Given the description of an element on the screen output the (x, y) to click on. 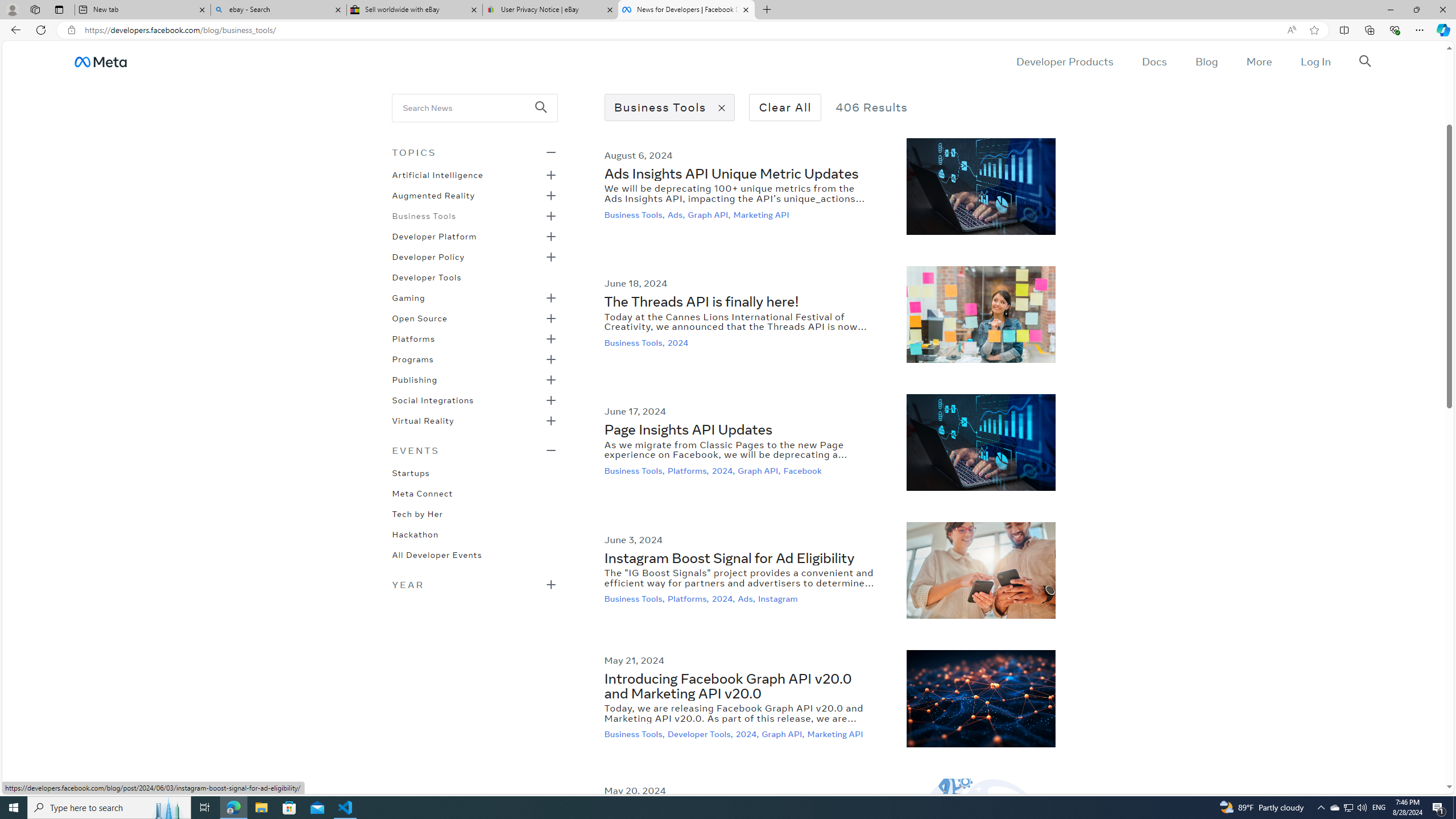
Open Source (418, 317)
Tech by Her (416, 512)
Close (1442, 9)
Graph API, (784, 733)
Instagram (778, 598)
Social Integrations (432, 399)
ebay - Search (277, 9)
Class: _9890 _98ey (474, 450)
Developer Products (1064, 61)
User Privacy Notice | eBay (550, 9)
Platforms (413, 337)
Split screen (1344, 29)
2024, (748, 733)
